Given the description of an element on the screen output the (x, y) to click on. 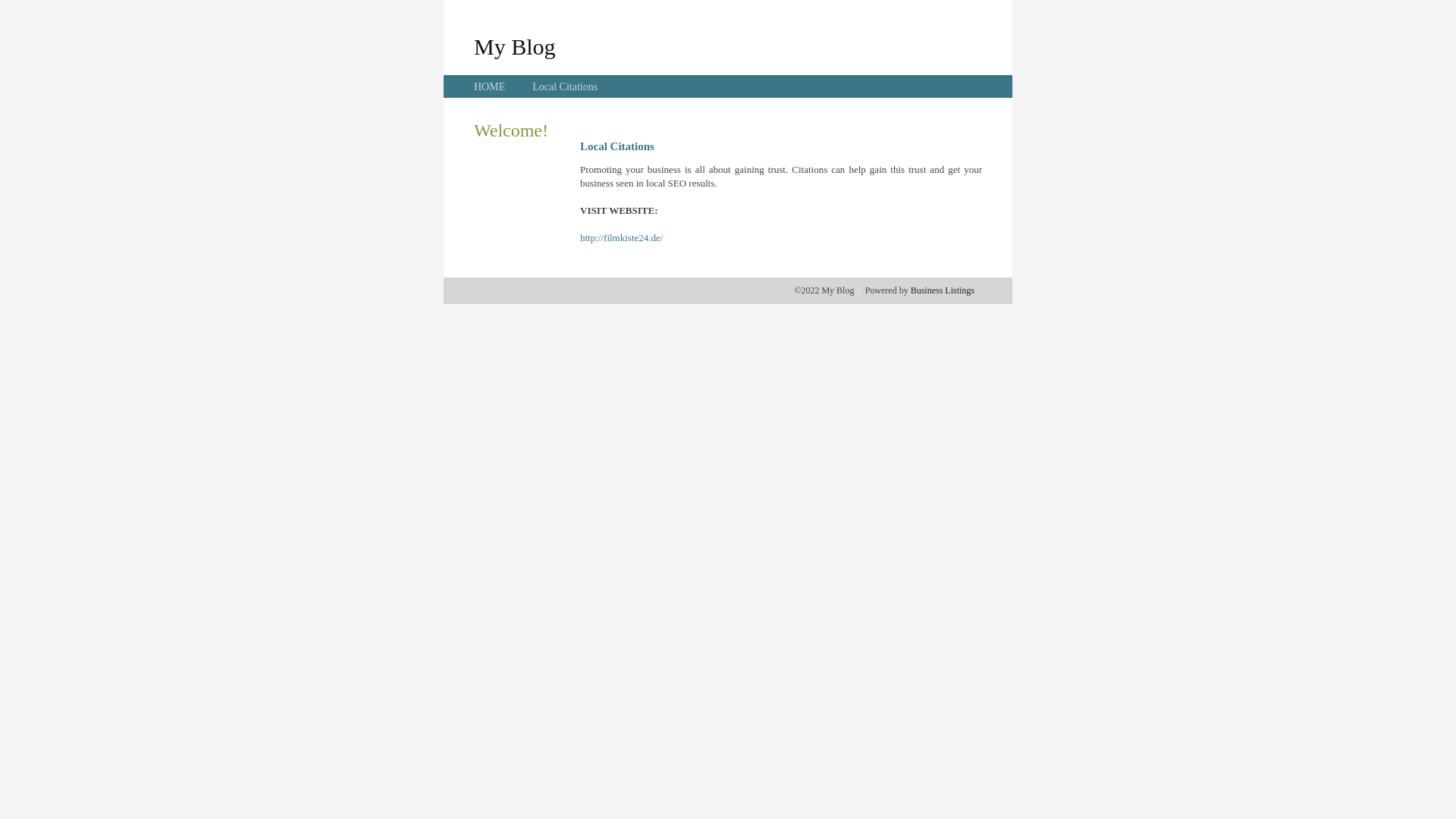
http://filmkiste24.de/ Element type: text (621, 237)
HOME Element type: text (489, 86)
Business Listings Element type: text (942, 290)
My Blog Element type: text (514, 46)
Local Citations Element type: text (564, 86)
